Given the description of an element on the screen output the (x, y) to click on. 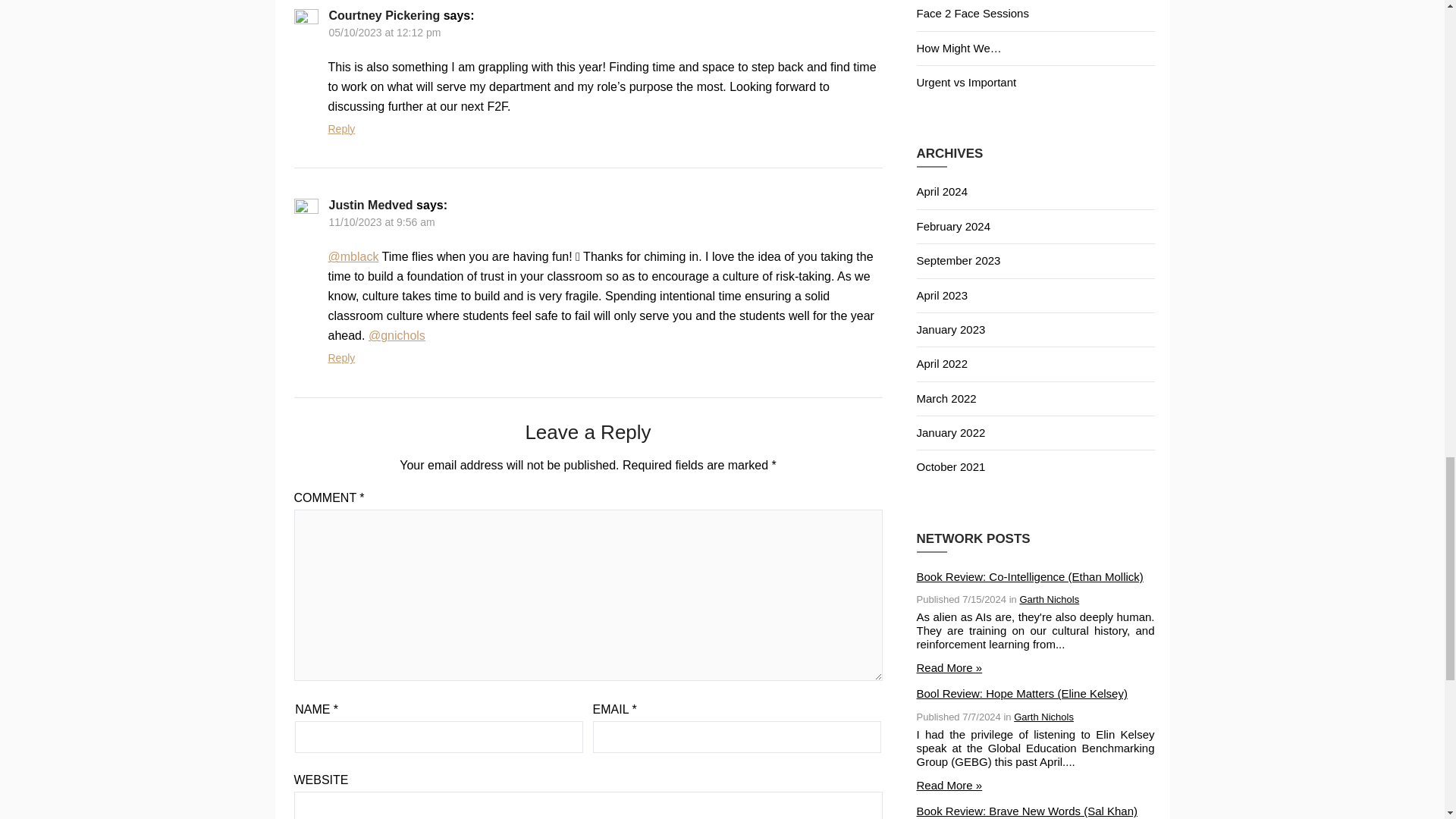
January 2023 (950, 328)
April 2024 (941, 191)
Urgent vs Important (965, 82)
September 2023 (957, 259)
April 2023 (941, 294)
Courtney Pickering (385, 15)
February 2024 (952, 226)
Justin Medved (371, 205)
Reply (341, 357)
Reply (341, 128)
Face 2 Face Sessions (971, 12)
